Given the description of an element on the screen output the (x, y) to click on. 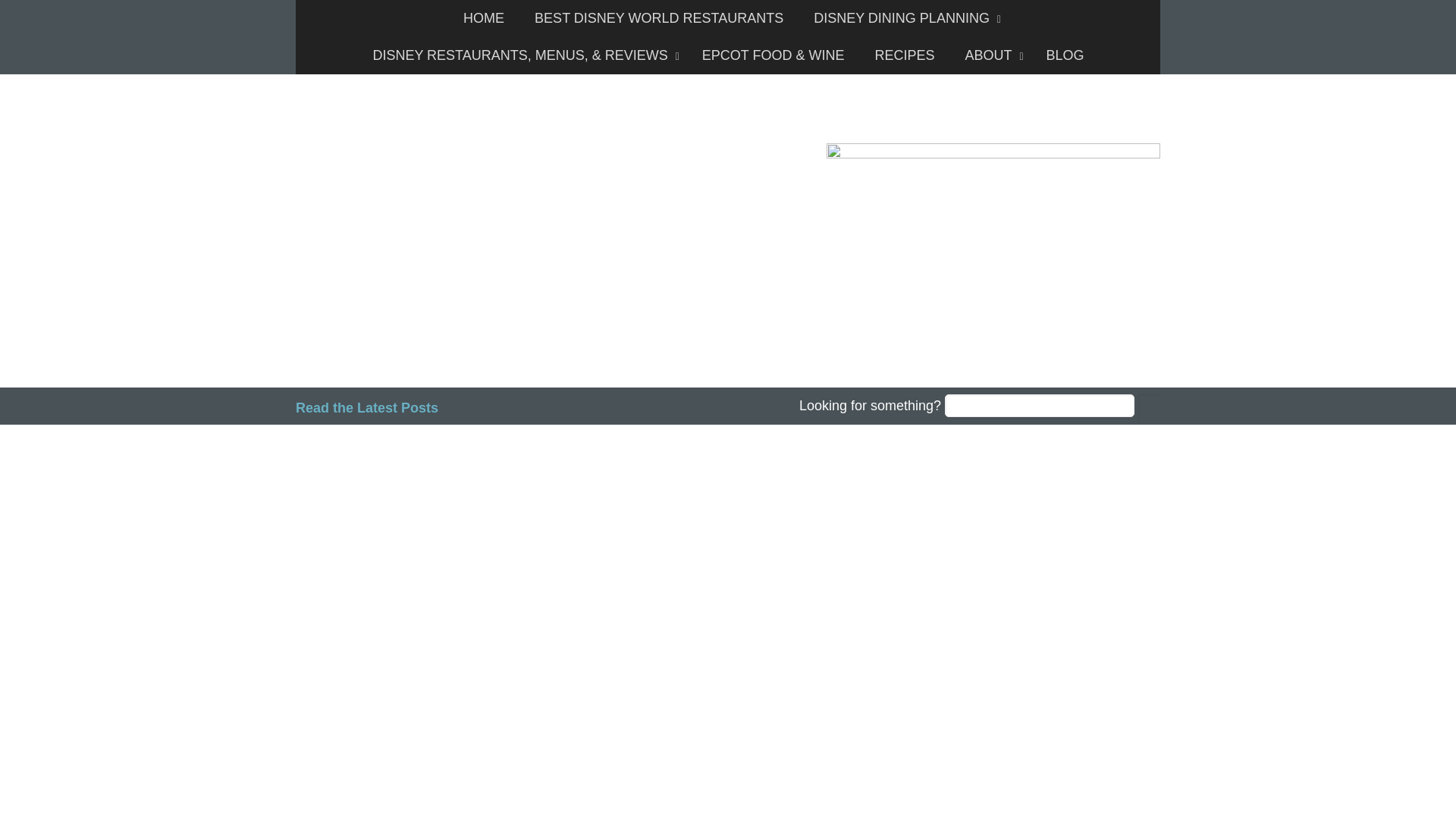
DISNEY DINING PLANNING (903, 18)
BEST DISNEY WORLD RESTAURANTS (658, 18)
HOME (483, 18)
